Given the description of an element on the screen output the (x, y) to click on. 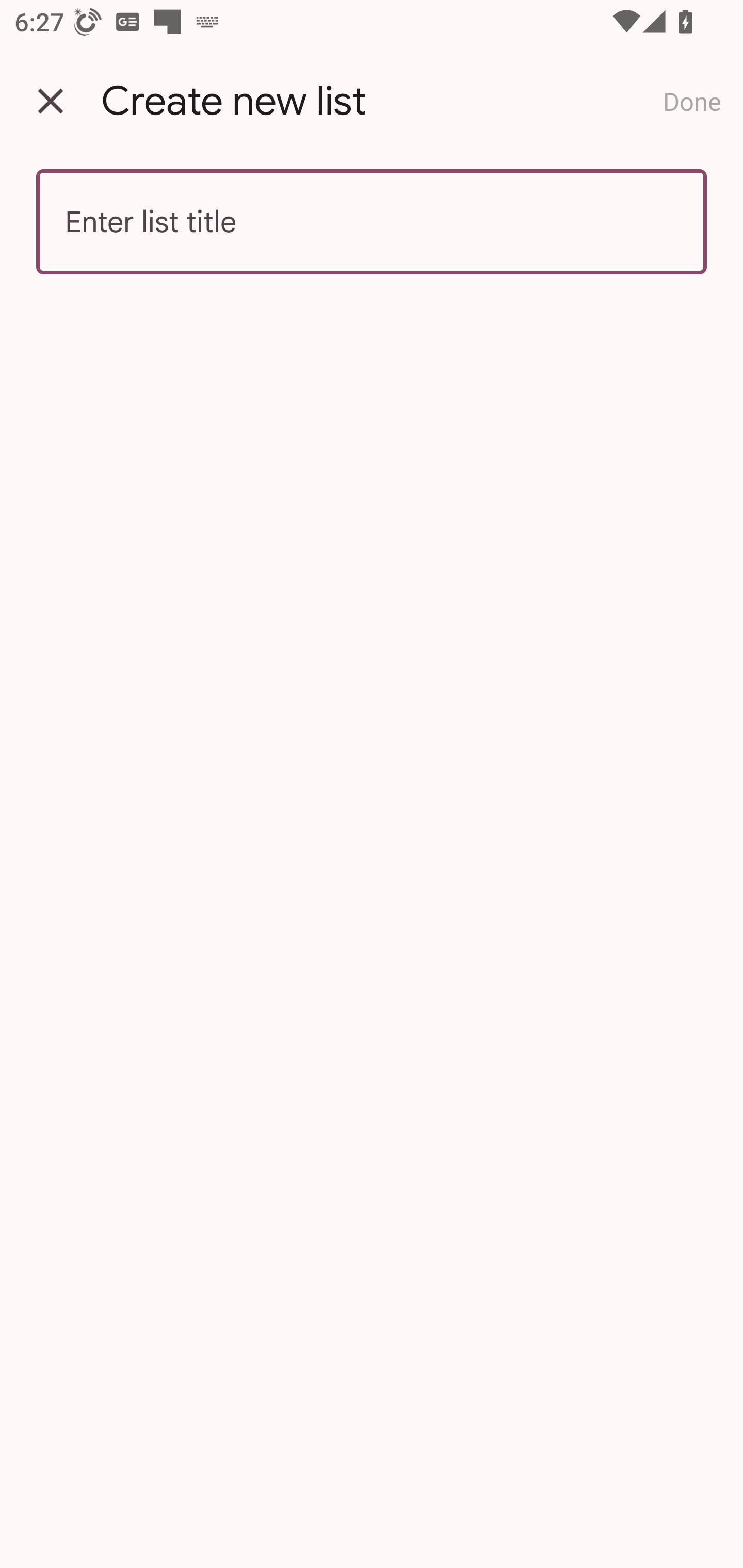
Back (50, 101)
Done (692, 101)
Enter list title (371, 221)
